Given the description of an element on the screen output the (x, y) to click on. 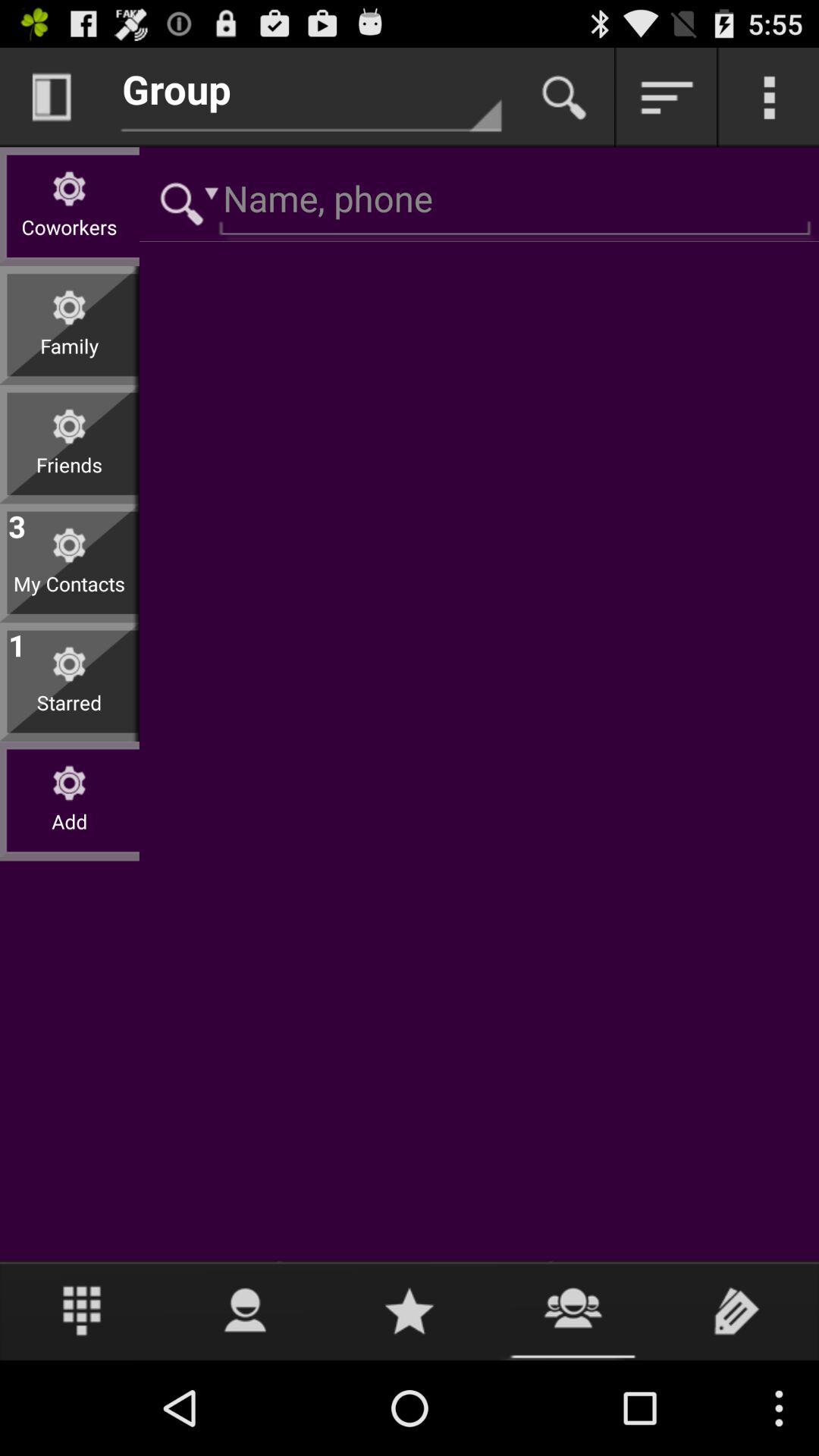
see personal contacts (245, 1310)
